Given the description of an element on the screen output the (x, y) to click on. 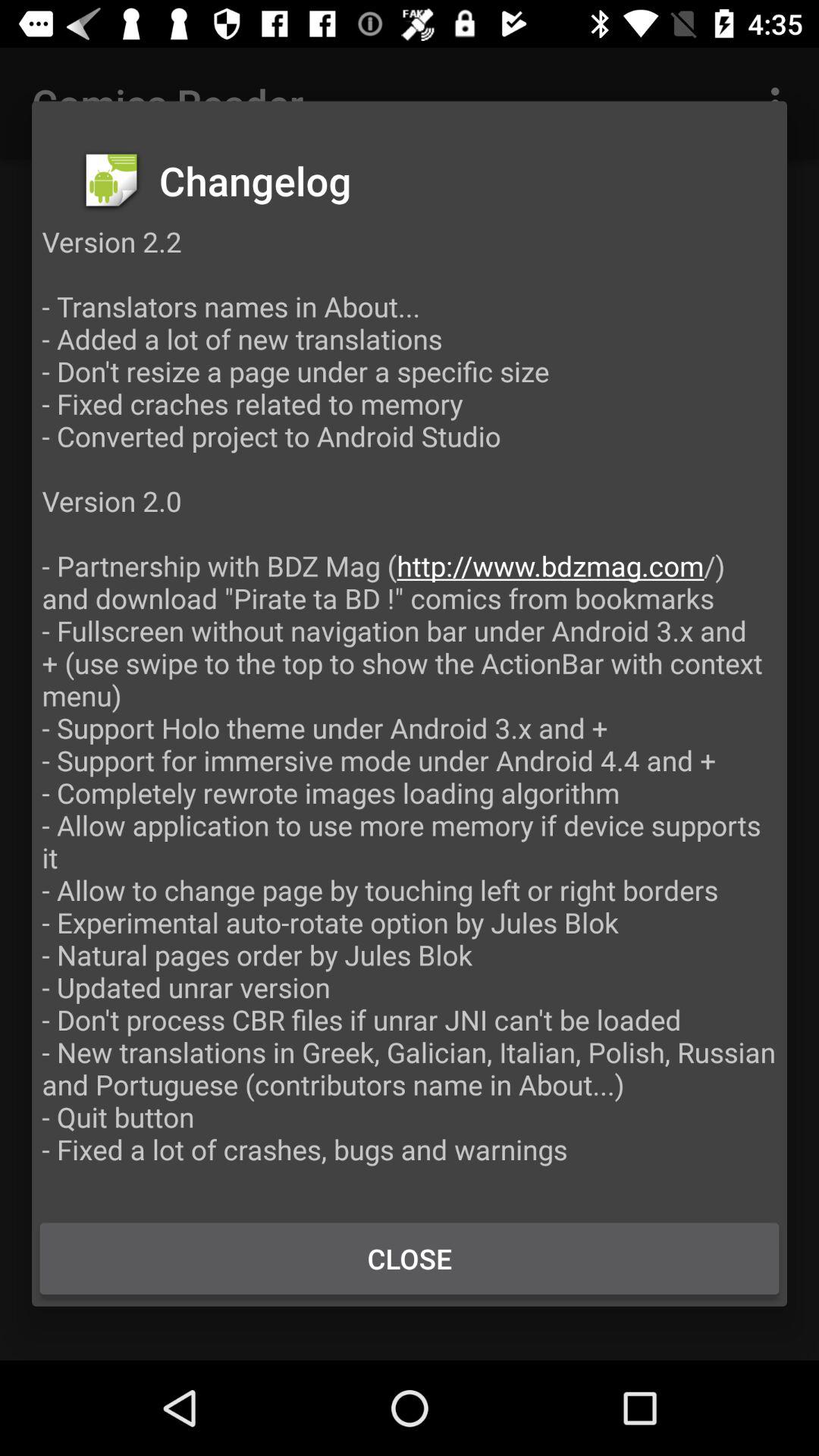
click the version 2 2 at the center (409, 711)
